Given the description of an element on the screen output the (x, y) to click on. 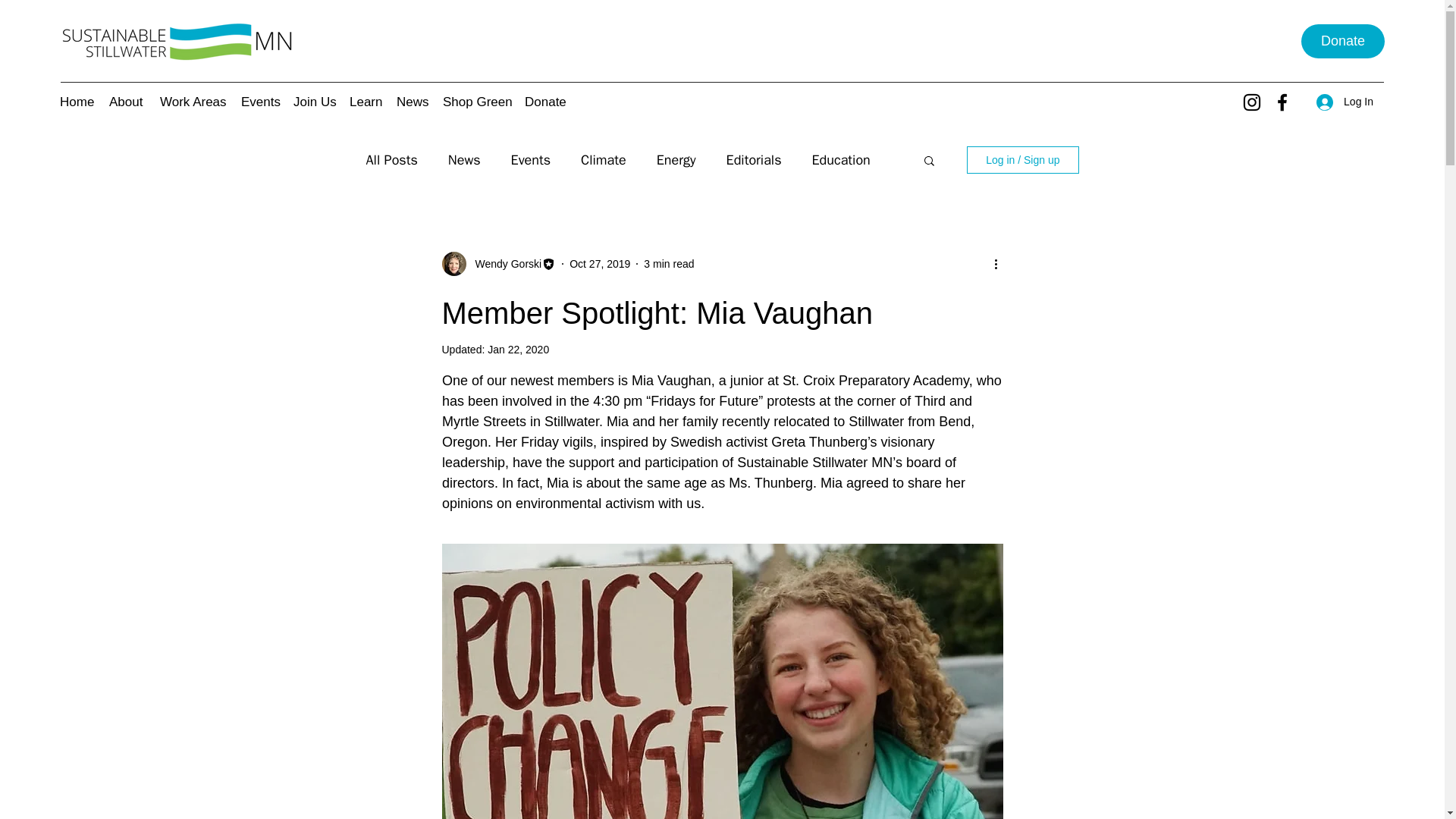
Oct 27, 2019 (599, 263)
Learn (365, 101)
Home (76, 101)
Wendy Gorski (503, 263)
Events (258, 101)
About (126, 101)
Jan 22, 2020 (517, 349)
Work Areas (192, 101)
Join Us (313, 101)
3 min read (668, 263)
Donate (1342, 41)
